Given the description of an element on the screen output the (x, y) to click on. 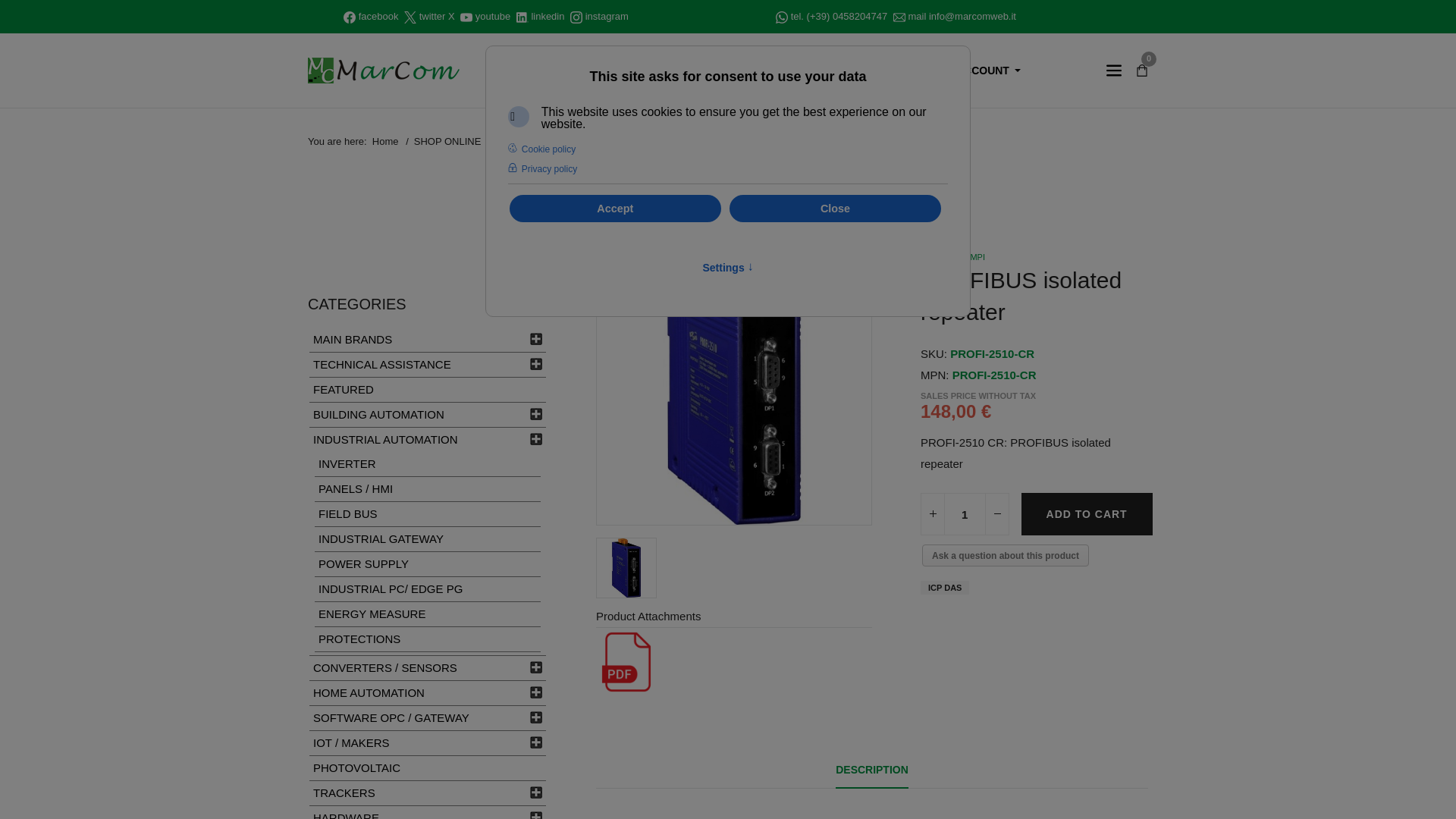
linkedin (547, 16)
Shop Online - Marcom S.r.l. (383, 70)
Cookie policy (543, 149)
facebook (378, 16)
youtube (493, 16)
instagram (606, 16)
twitter X (436, 16)
SUPPORT (799, 70)
facebook (378, 16)
1 (964, 514)
instagram (606, 16)
Add to Cart (1087, 514)
linkedin (547, 16)
SHOP ONLINE (619, 70)
Privacy policy (543, 169)
